Given the description of an element on the screen output the (x, y) to click on. 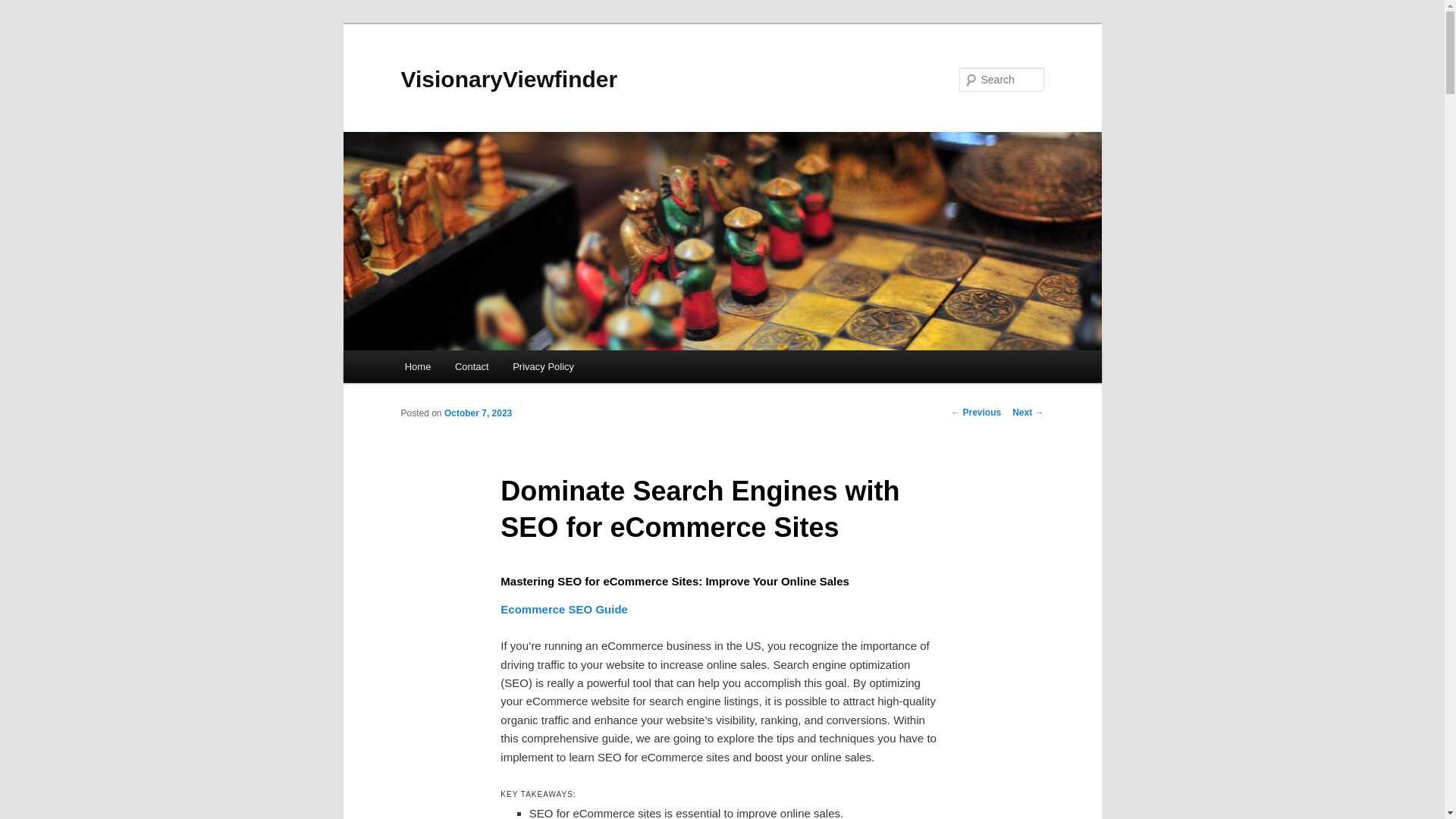
Search (24, 8)
Home (417, 366)
Privacy Policy (542, 366)
7:19 am (478, 412)
Ecommerce SEO Guide (563, 608)
VisionaryViewfinder (508, 78)
Contact (471, 366)
October 7, 2023 (478, 412)
